Given the description of an element on the screen output the (x, y) to click on. 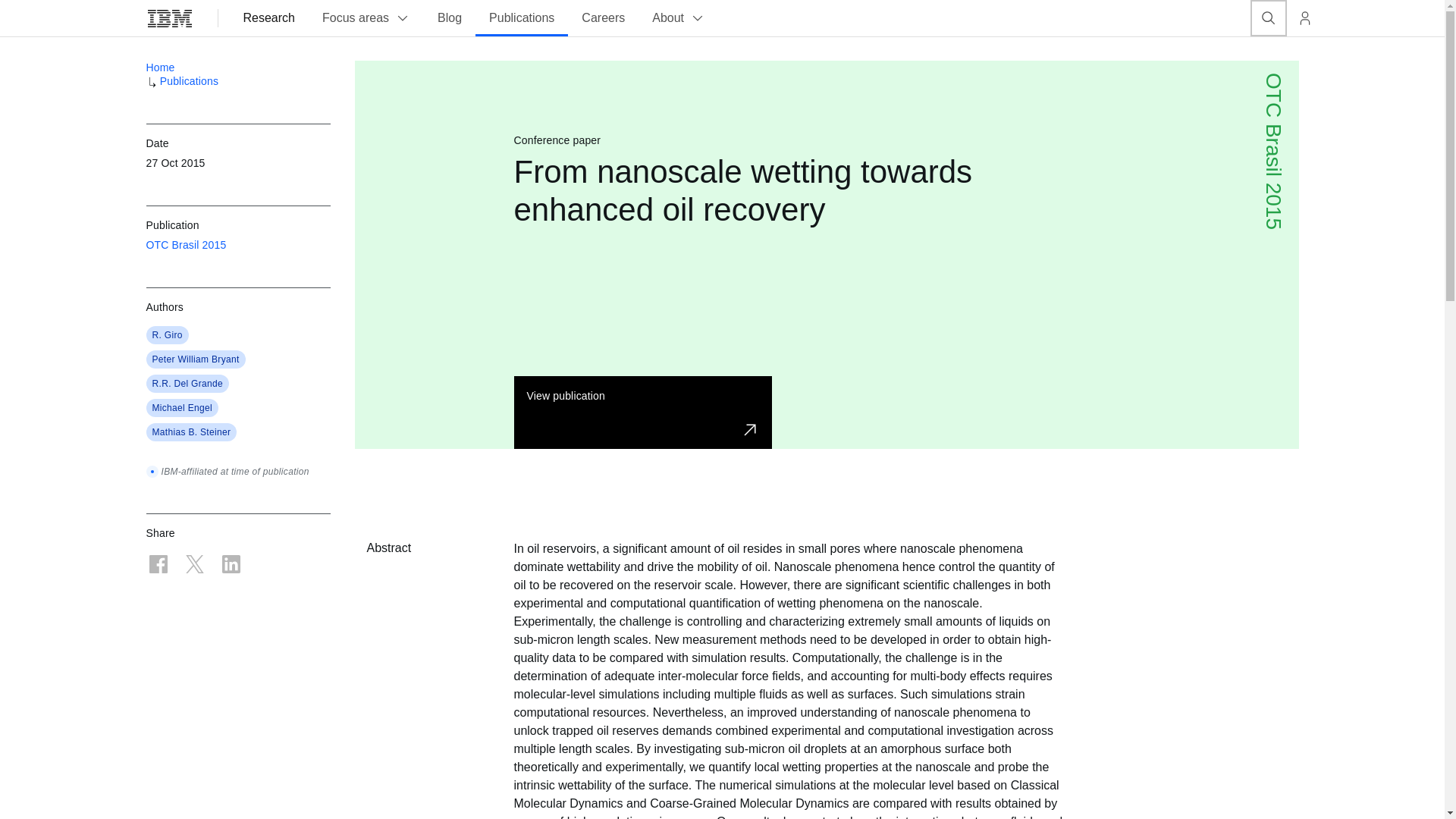
Mathias B. Steiner (190, 431)
Peter William Bryant (194, 358)
Michael Engel (181, 408)
R. Giro (166, 335)
R.R. Del Grande (186, 383)
